Given the description of an element on the screen output the (x, y) to click on. 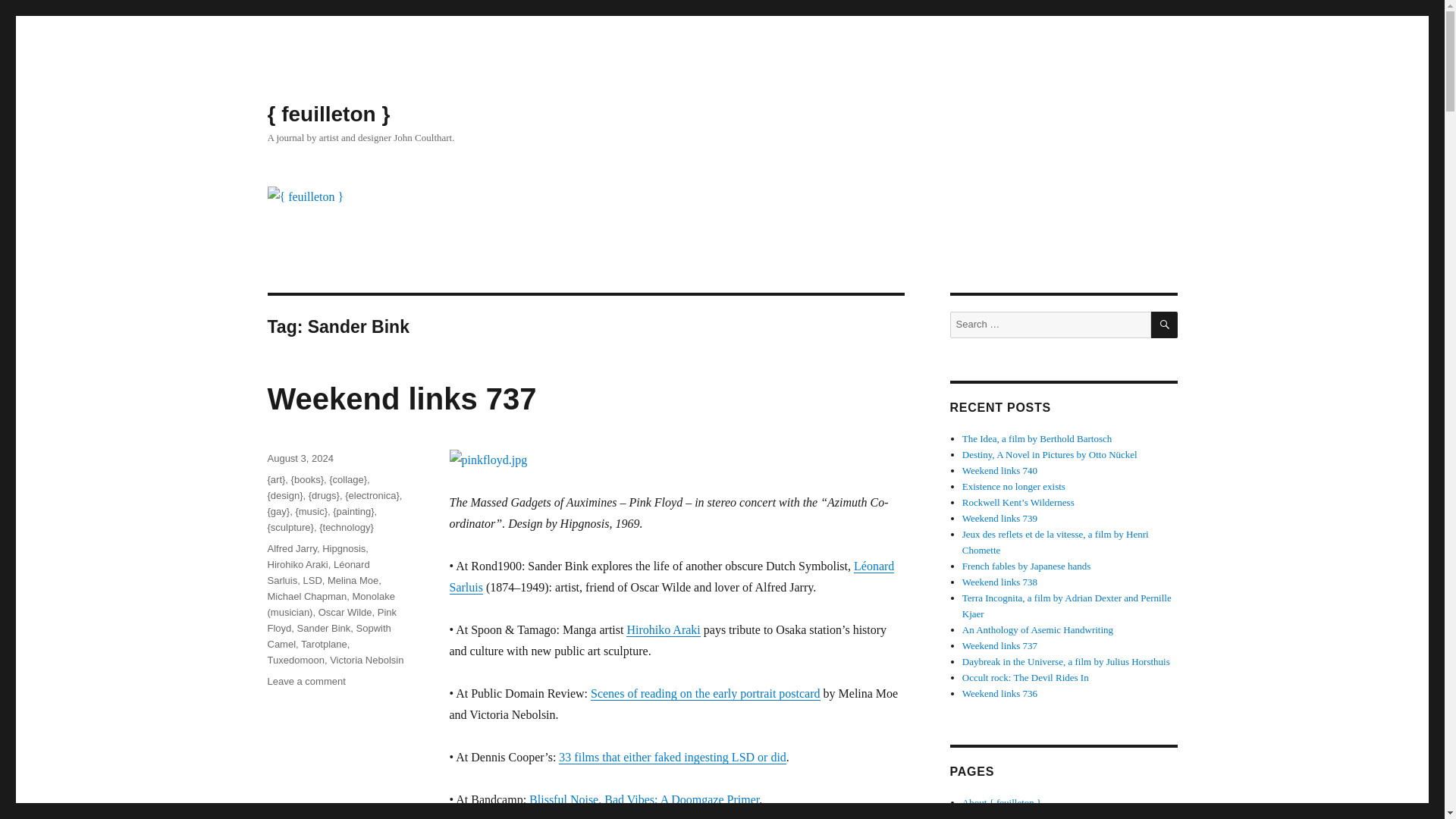
Hirohiko Araki (663, 629)
Scenes of reading on the early portrait postcard (706, 693)
Alfred Jarry (291, 548)
Blissful Noise, Bad Vibes: A Doomgaze Primer (643, 799)
Weekend links 737 (400, 398)
LSD (311, 580)
Oscar Wilde (345, 612)
33 films that either faked ingesting LSD or did (672, 757)
Pink Floyd (331, 619)
Michael Chapman (306, 595)
